Given the description of an element on the screen output the (x, y) to click on. 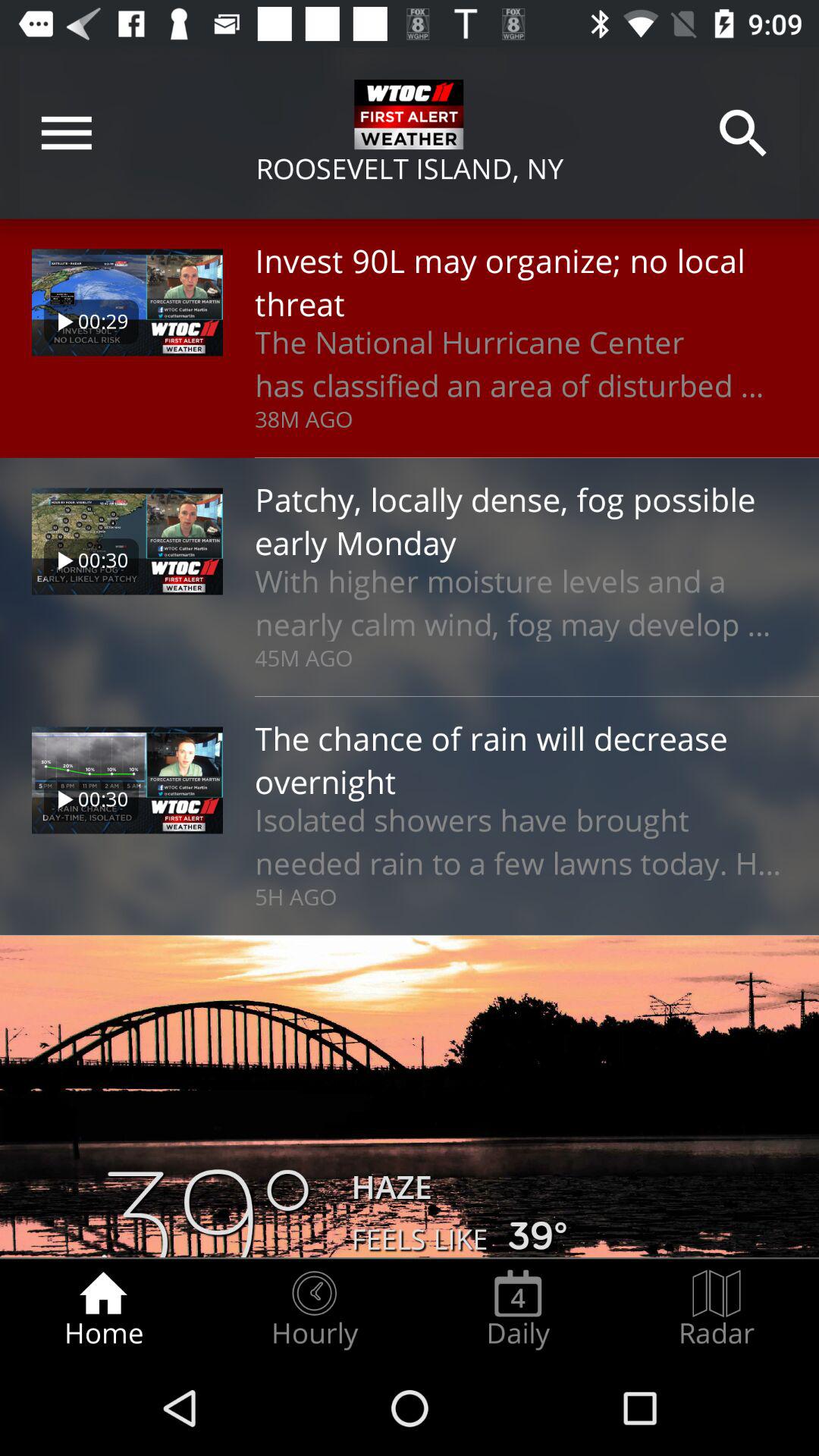
scroll to home radio button (103, 1309)
